Given the description of an element on the screen output the (x, y) to click on. 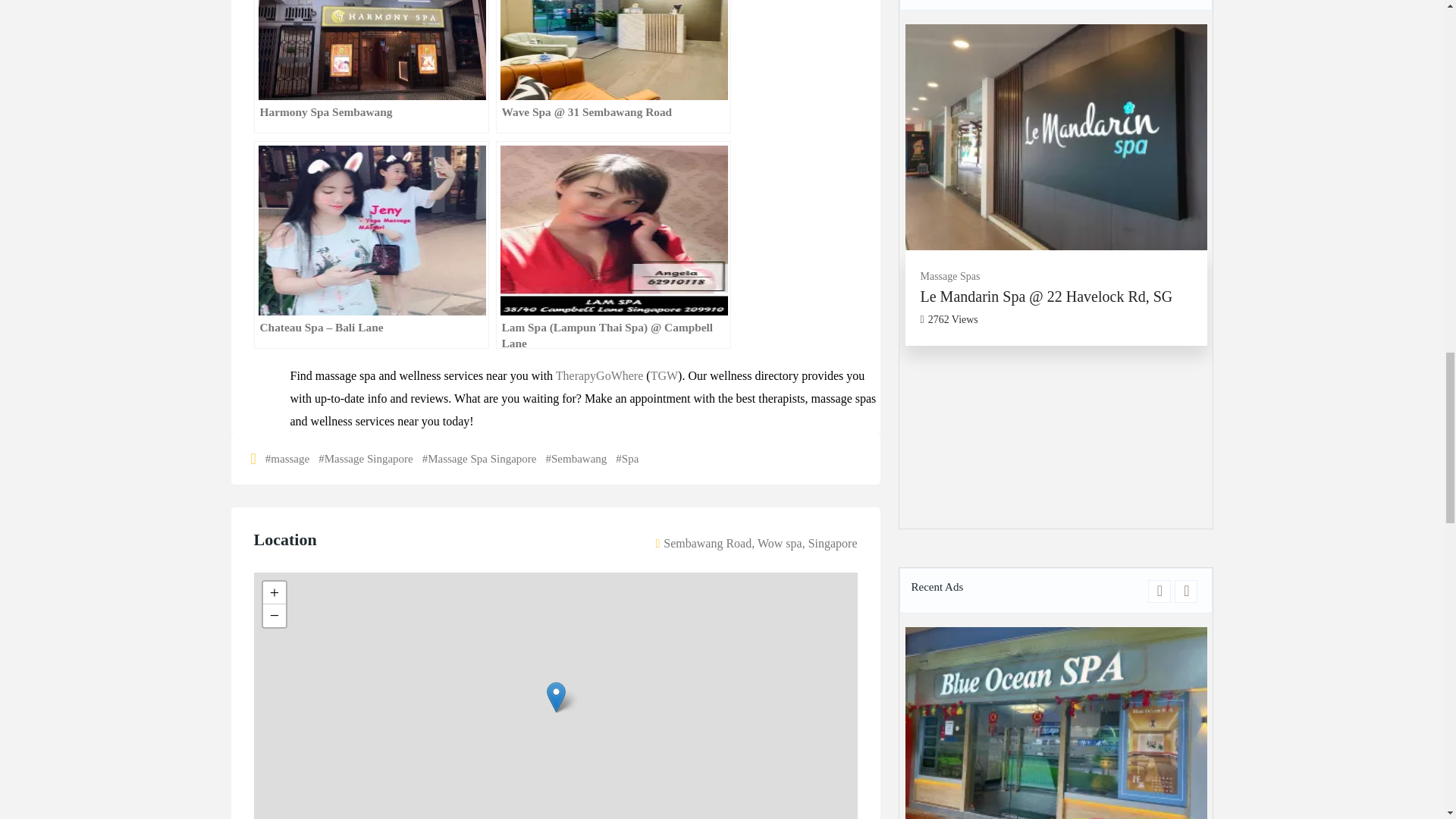
Harmony Spa Sembawang (370, 66)
